Given the description of an element on the screen output the (x, y) to click on. 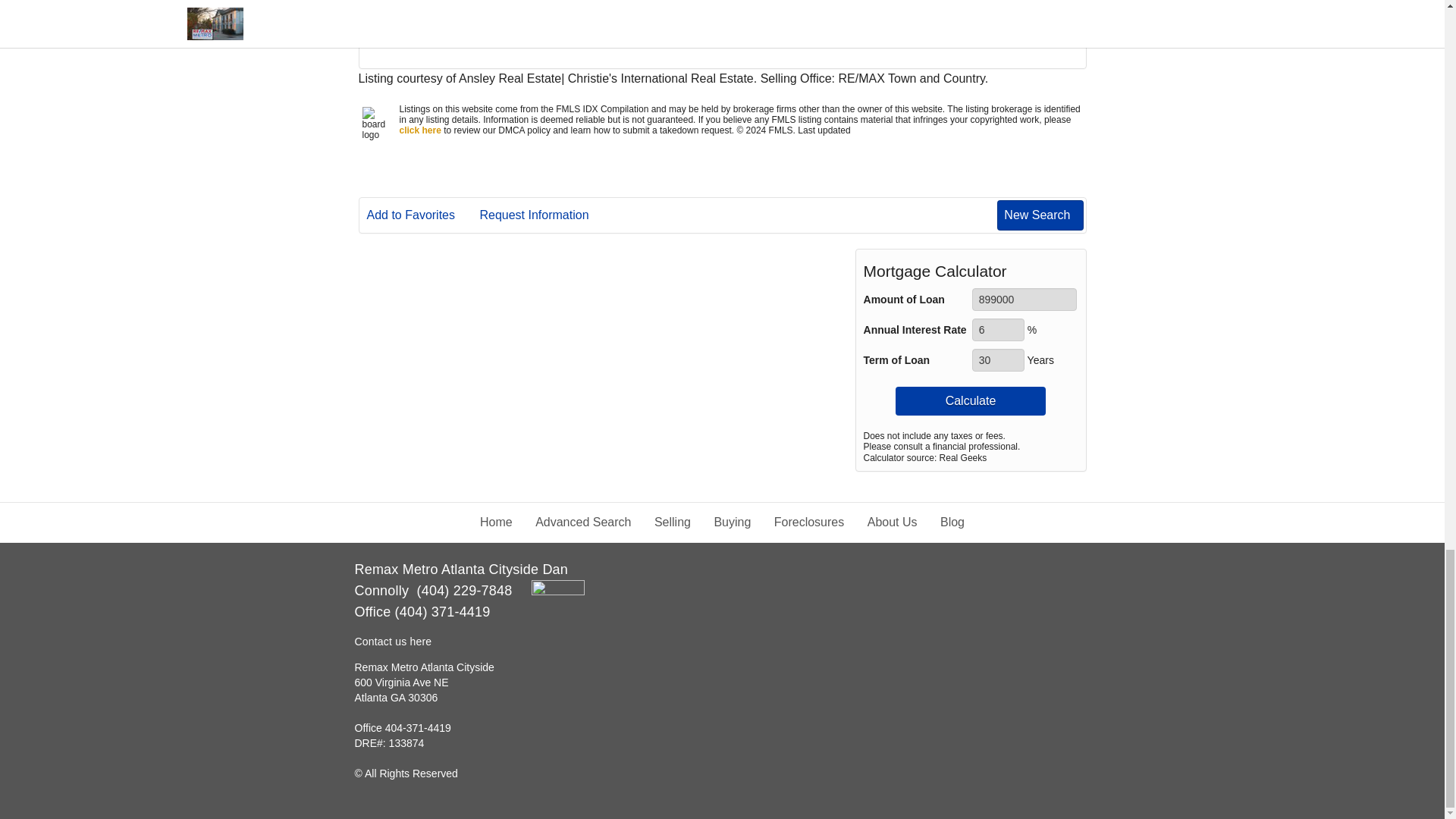
30 (998, 359)
6 (998, 329)
899000 (1024, 299)
